Given the description of an element on the screen output the (x, y) to click on. 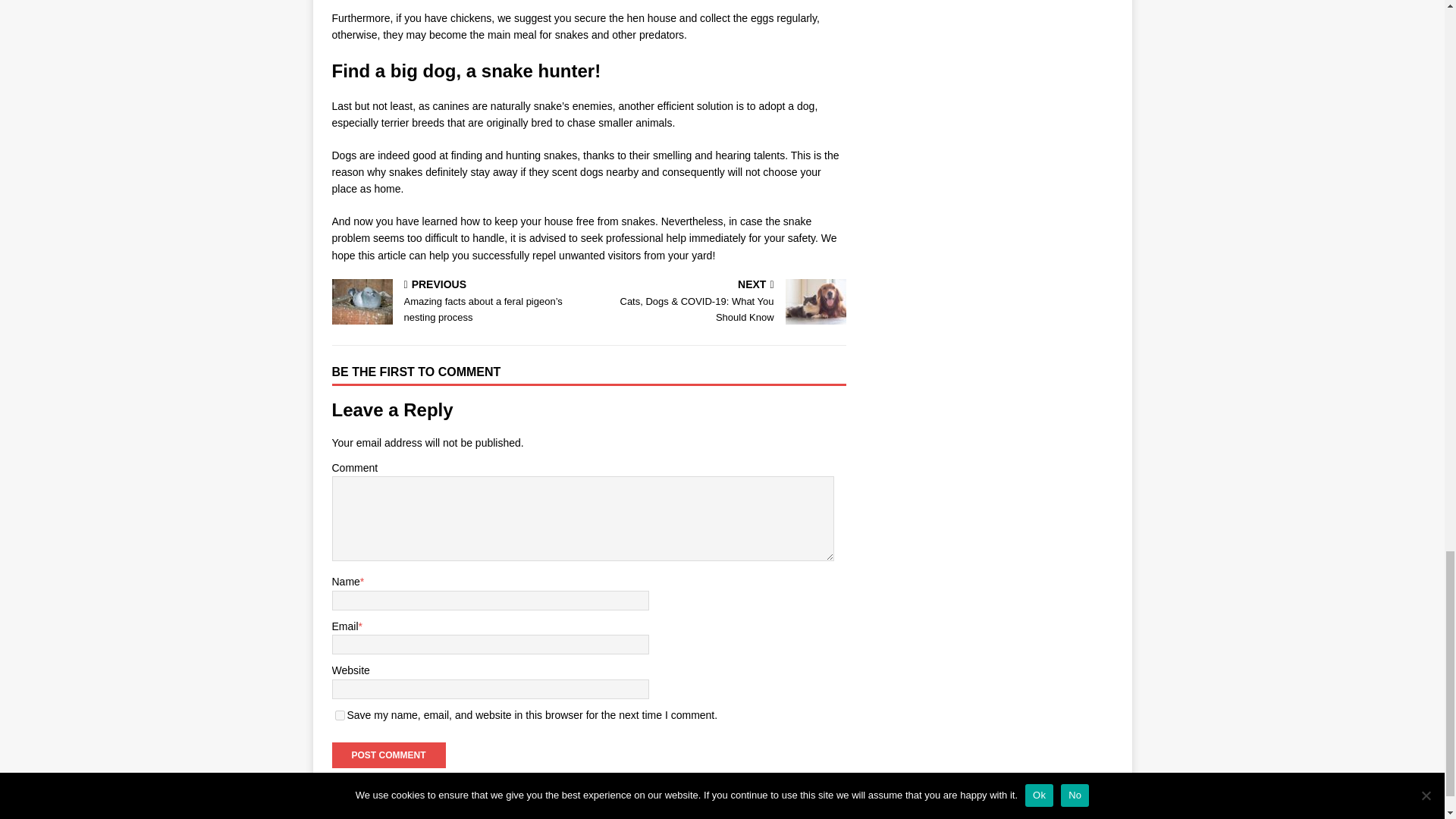
Post Comment (388, 755)
yes (339, 715)
Post Comment (388, 755)
